Given the description of an element on the screen output the (x, y) to click on. 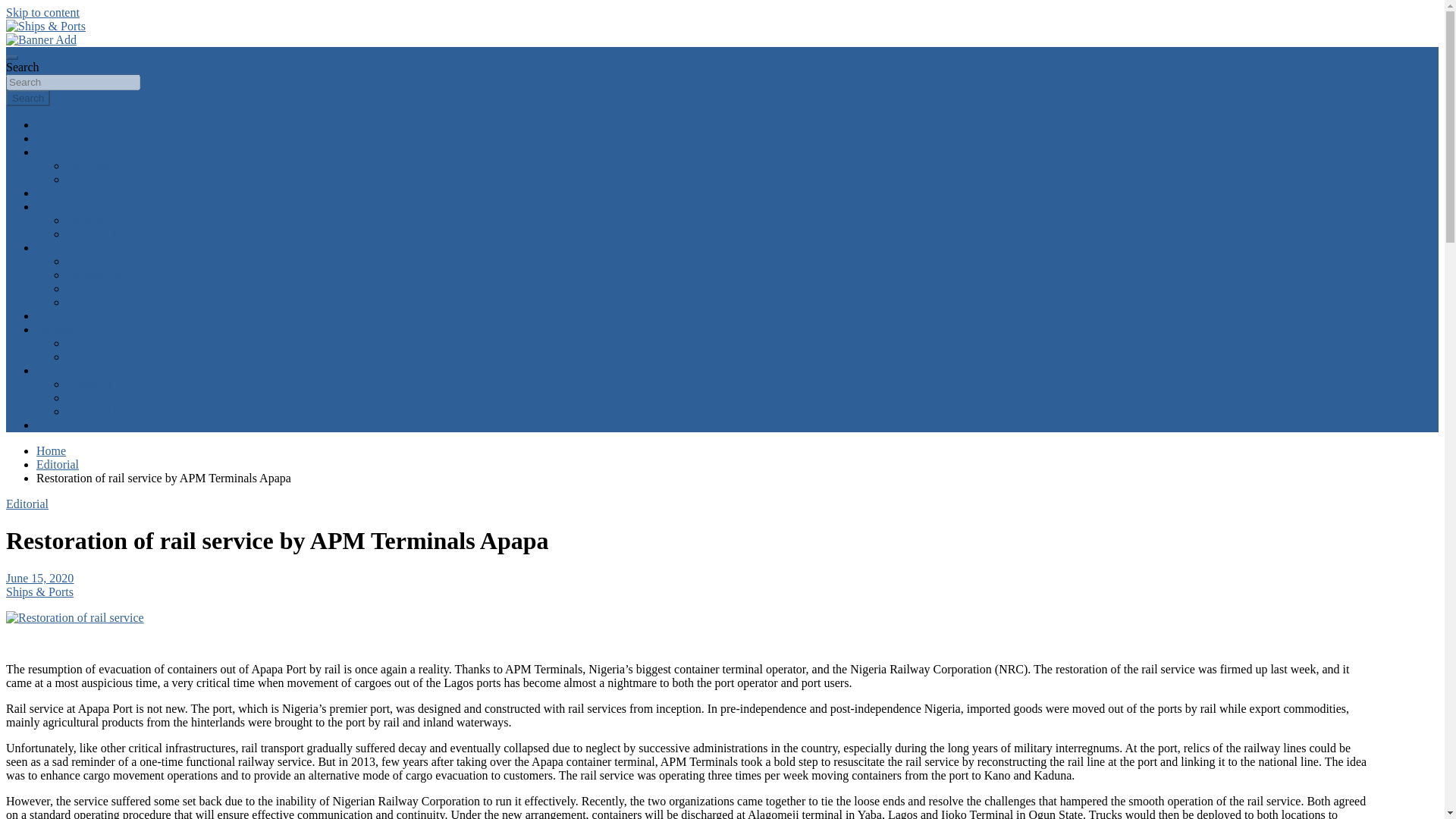
Editorial (87, 164)
Opinion (55, 328)
Skip to content (42, 11)
Advertise Here (102, 397)
Contact Us (93, 410)
Issues in the news (110, 356)
Commentary (98, 178)
About Us (59, 369)
Top quotes (62, 315)
Reports (85, 219)
Home (50, 124)
Listen to Radio (103, 233)
Reports (55, 205)
Editorial (57, 463)
Home (50, 450)
